Given the description of an element on the screen output the (x, y) to click on. 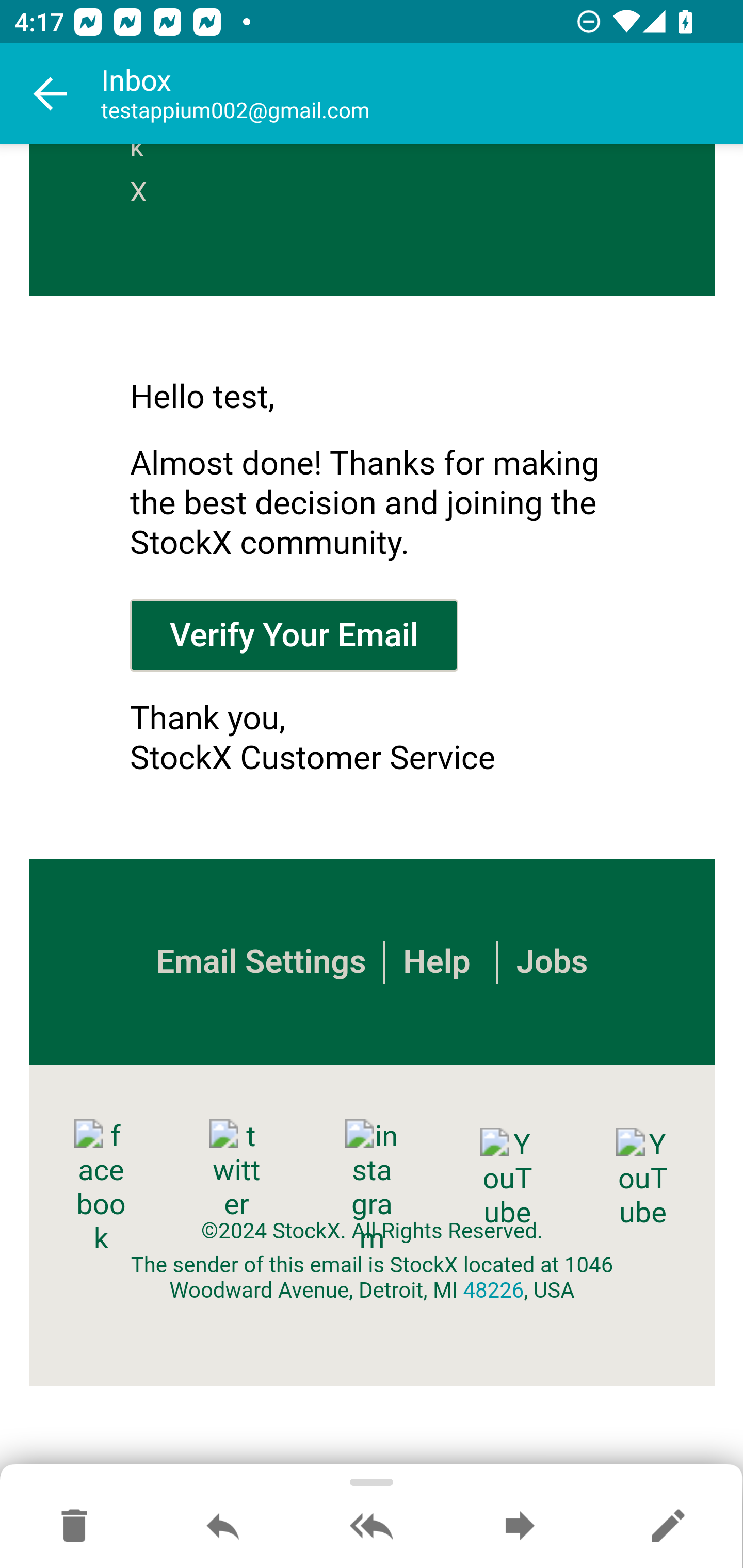
Navigate up (50, 93)
Inbox testappium002@gmail.com (422, 93)
StockX (145, 180)
Verify Your Email (293, 634)
Email Settings (260, 961)
Help (436, 961)
Jobs (551, 961)
facebook (101, 1187)
twitter (236, 1170)
instagram (372, 1187)
YouTube (507, 1177)
YouTube (642, 1177)
48226 (493, 1290)
Move to Deleted (74, 1527)
Reply (222, 1527)
Reply all (371, 1527)
Forward (519, 1527)
Reply as new (667, 1527)
